Given the description of an element on the screen output the (x, y) to click on. 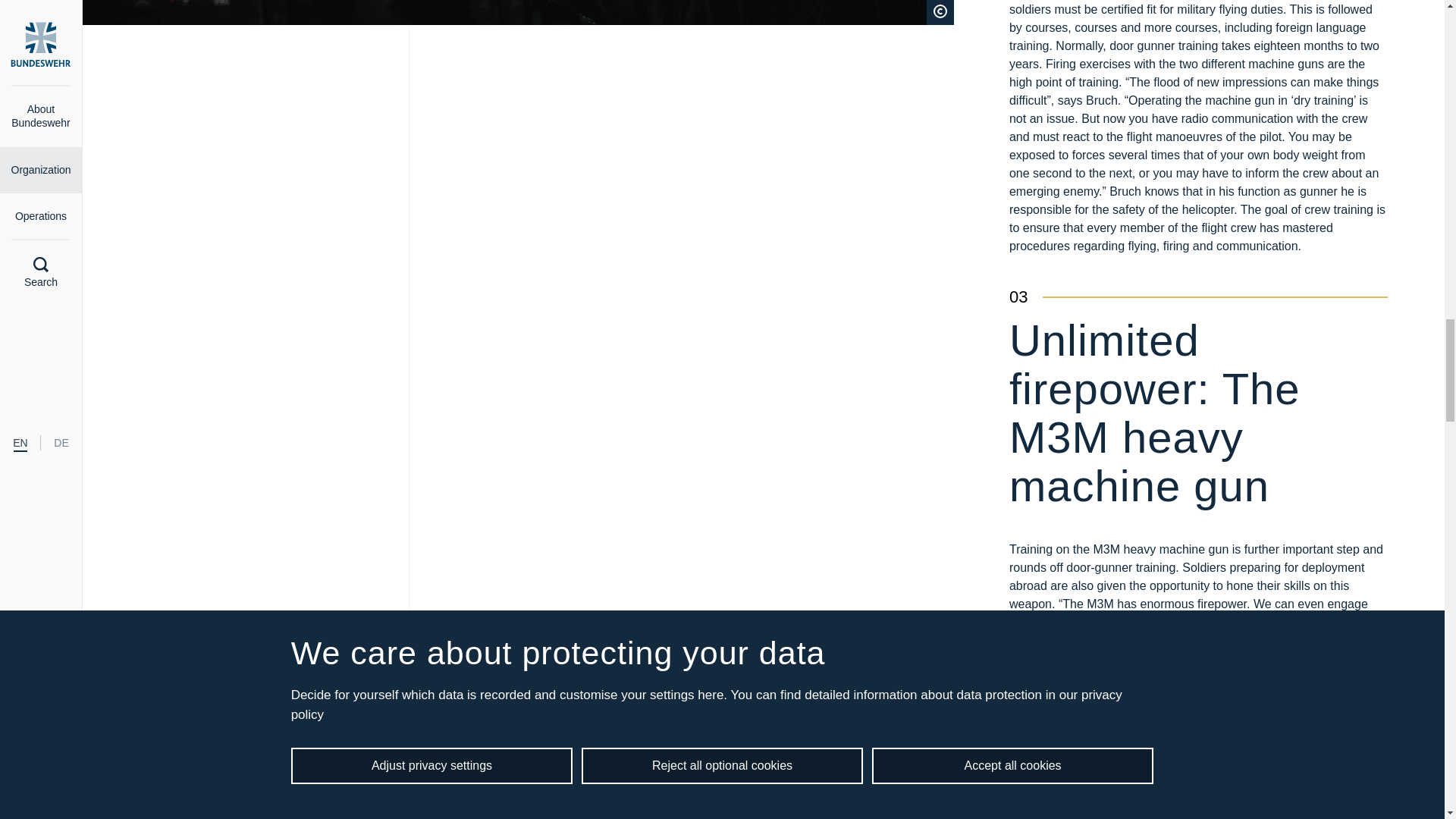
Pilot conducting a preflight check (517, 12)
